Given the description of an element on the screen output the (x, y) to click on. 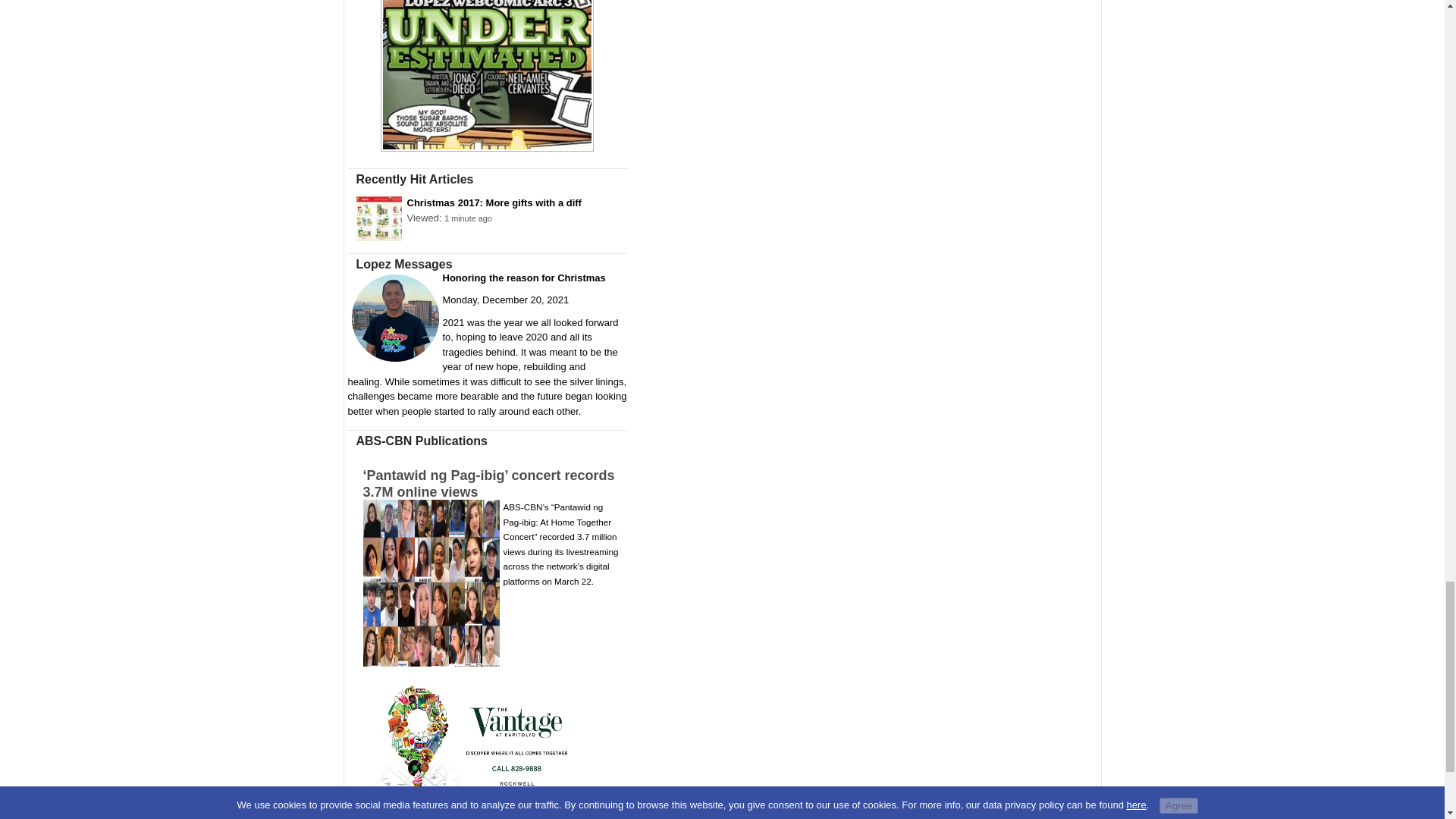
Underestimated (486, 75)
Underestimated (486, 151)
